Given the description of an element on the screen output the (x, y) to click on. 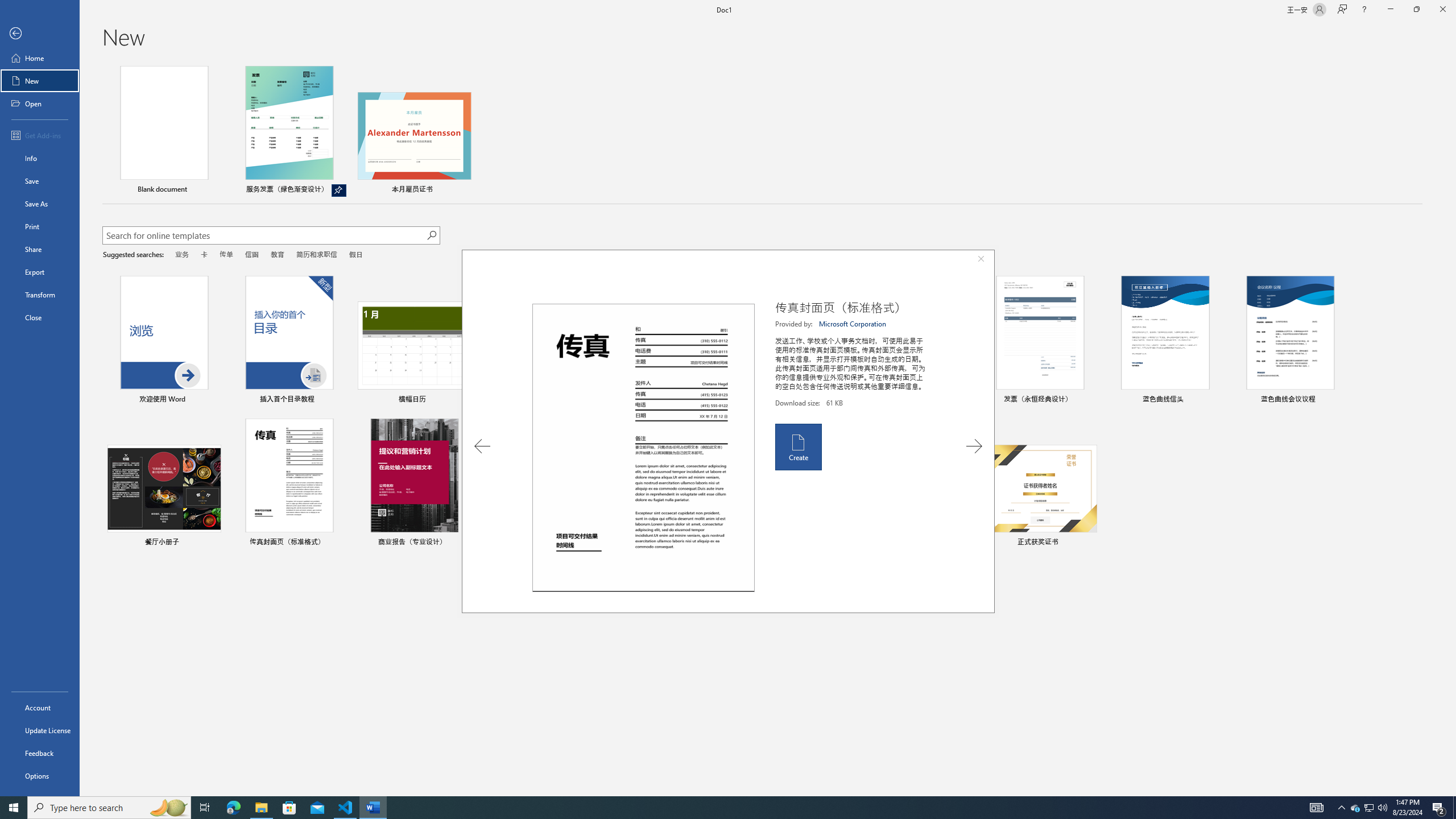
Open (40, 102)
